Given the description of an element on the screen output the (x, y) to click on. 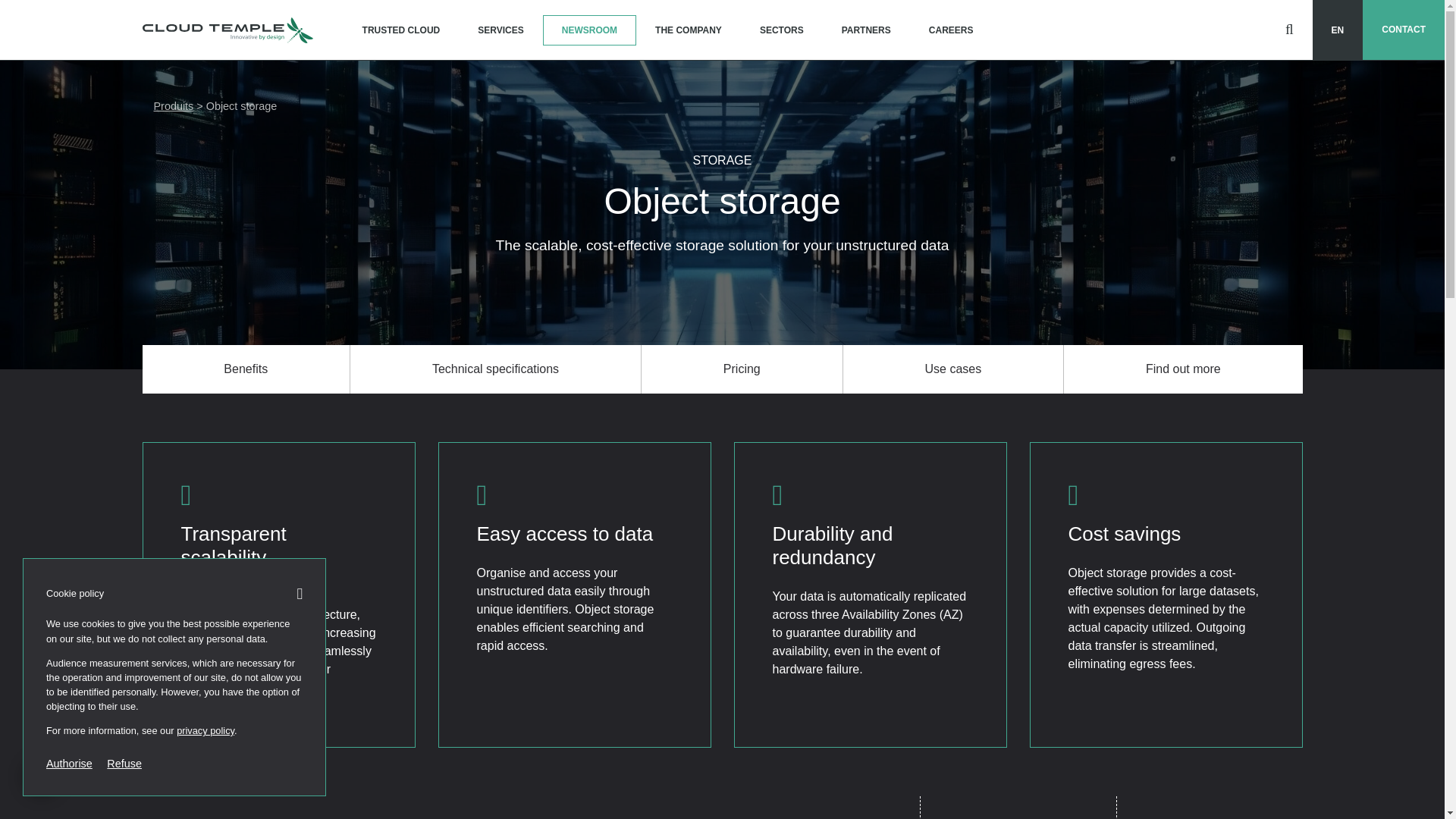
SERVICES (499, 30)
NEWSROOM (589, 30)
TRUSTED CLOUD (401, 30)
THE COMPANY (688, 30)
